Given the description of an element on the screen output the (x, y) to click on. 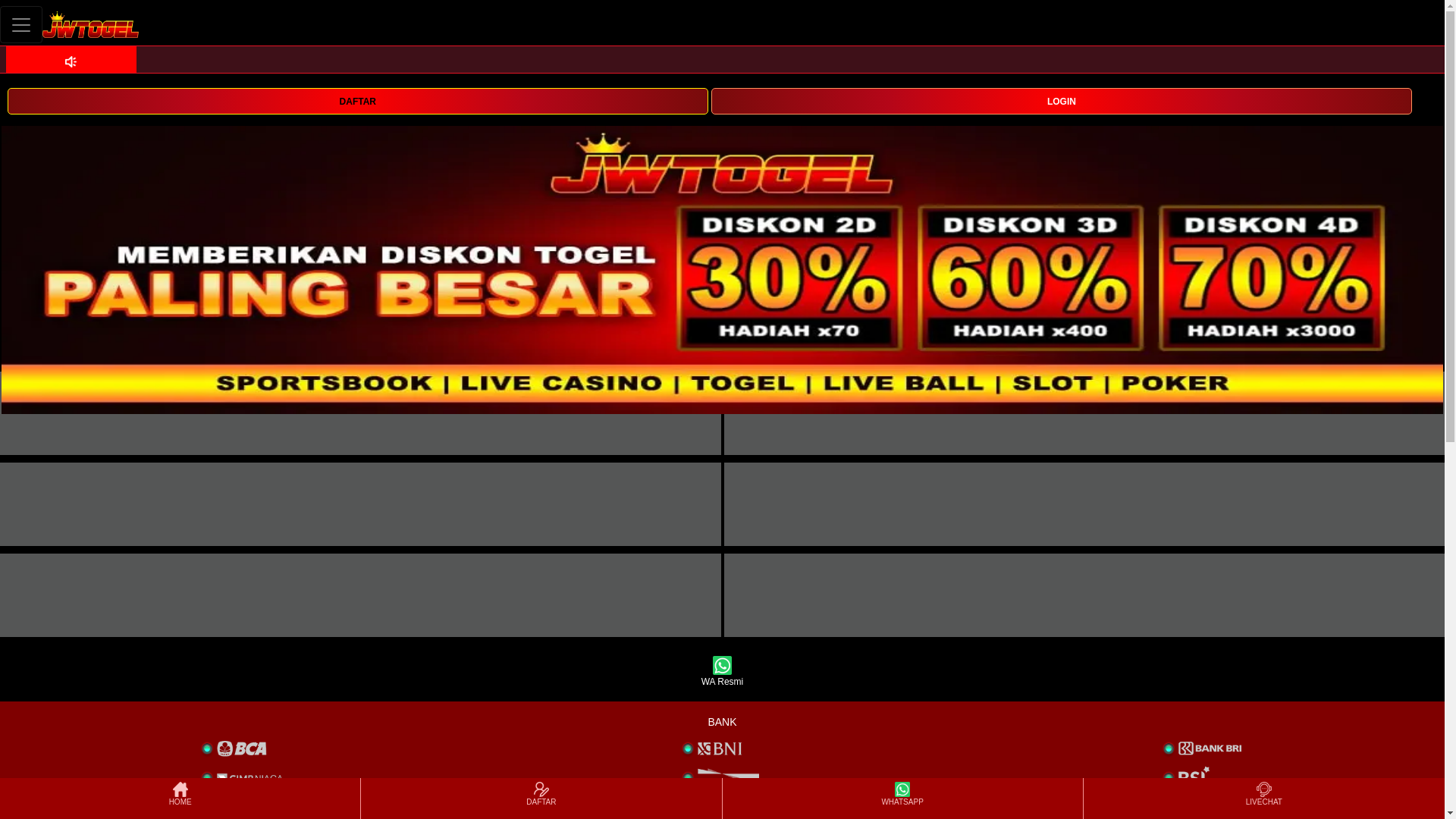
LOGIN (1061, 100)
DAFTAR (357, 100)
DAFTAR (540, 798)
DAFTAR (357, 100)
WA Resmi (722, 672)
LIVECHAT (1263, 798)
HOME (179, 798)
LOGIN (1061, 100)
WHATSAPP (901, 798)
